Given the description of an element on the screen output the (x, y) to click on. 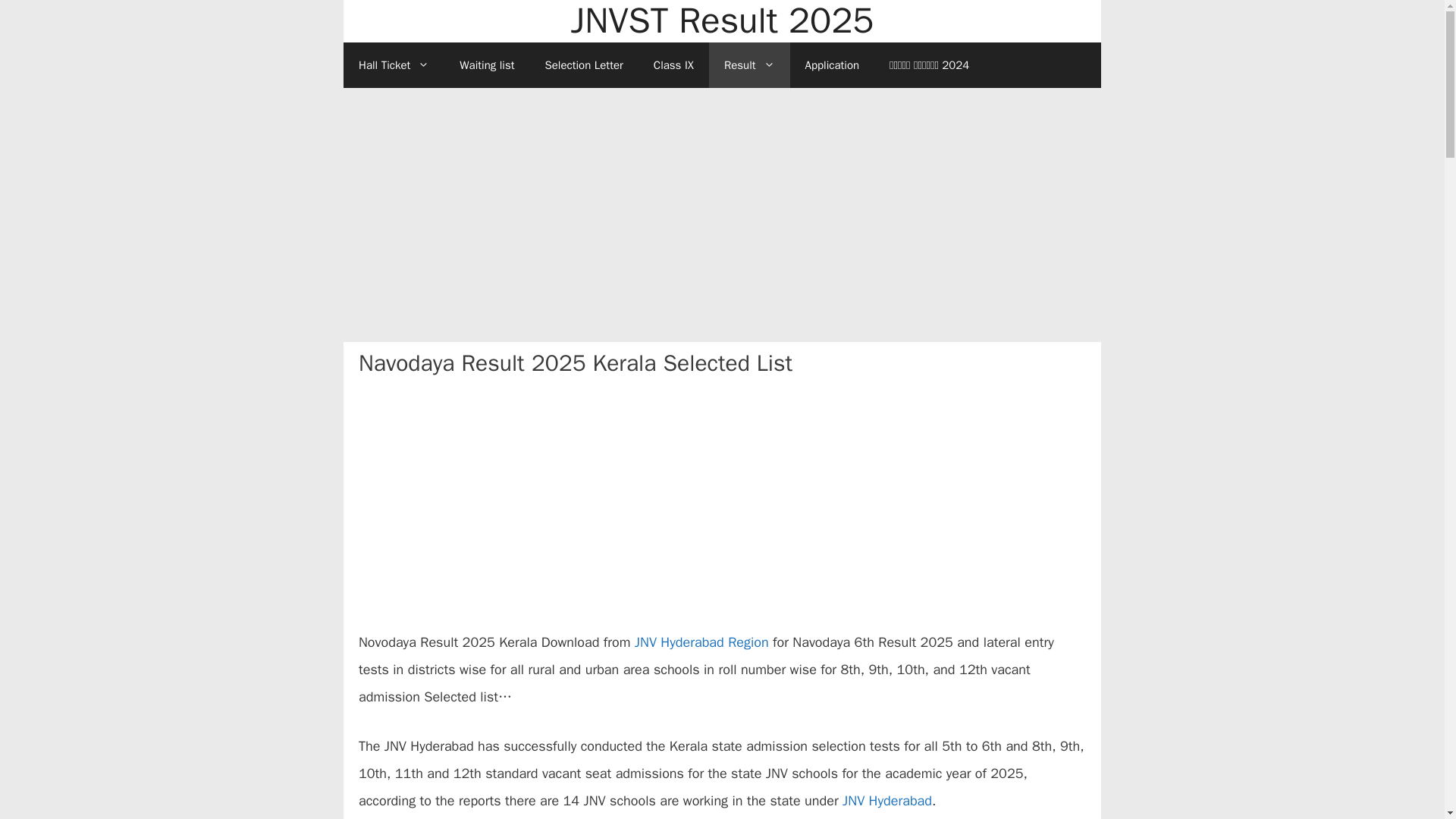
JNVST Result 2025 (721, 21)
JNV Hyderabad Region (701, 641)
Result (749, 64)
Selection Letter (583, 64)
Application (832, 64)
JNV Hyderabad (887, 800)
Waiting list (486, 64)
Hall Ticket (393, 64)
Class IX (674, 64)
